Given the description of an element on the screen output the (x, y) to click on. 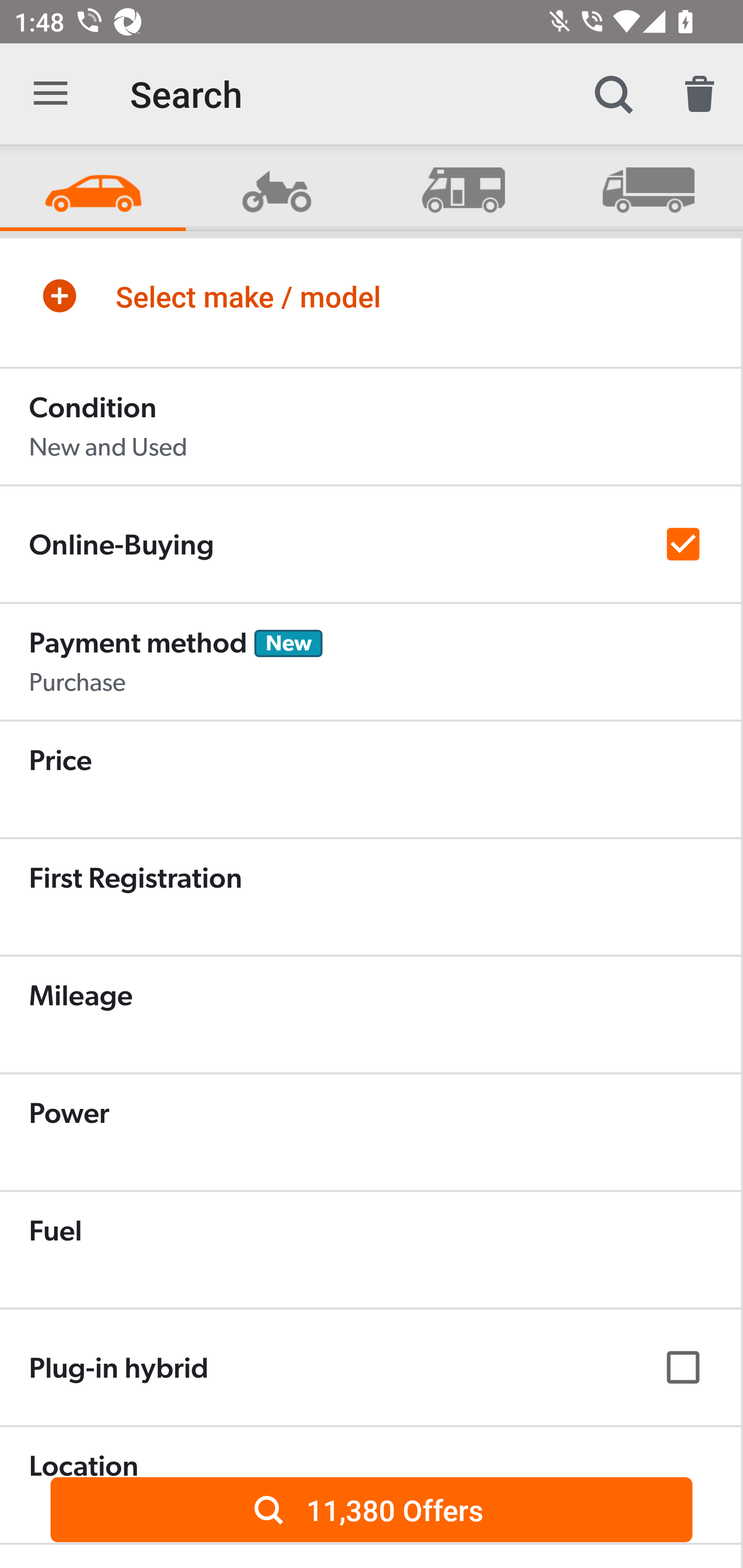
Open navigation bar (50, 93)
Search (612, 93)
Reset search (699, 93)
Select make / model (370, 296)
Condition New and Used (370, 426)
Online-Buying (370, 544)
Online-Buying (369, 543)
Payment method New Purchase (370, 661)
Price (370, 779)
First Registration (370, 896)
Mileage (370, 1014)
Power (370, 1132)
Fuel (370, 1249)
Plug-in hybrid (370, 1367)
Plug-in hybrid (369, 1367)
11,380 Offers (371, 1509)
